Given the description of an element on the screen output the (x, y) to click on. 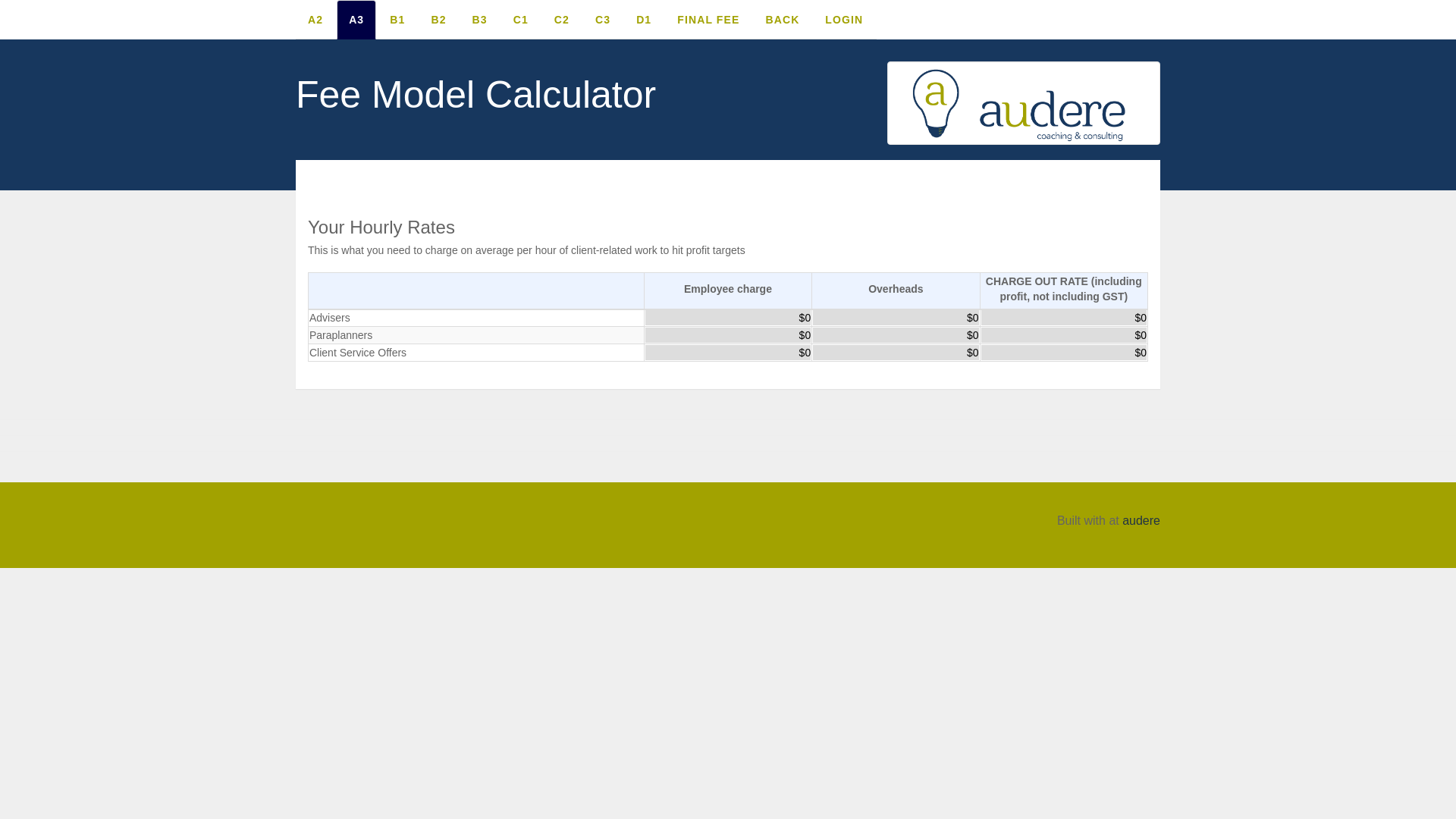
B3 Element type: text (479, 19)
B1 Element type: text (397, 19)
C2 Element type: text (561, 19)
FINAL FEE Element type: text (708, 19)
LOGIN Element type: text (843, 19)
B2 Element type: text (438, 19)
BACK Element type: text (782, 19)
C1 Element type: text (520, 19)
A2 Element type: text (315, 19)
D1 Element type: text (643, 19)
audere Element type: text (1141, 520)
C3 Element type: text (602, 19)
A3 Element type: text (356, 19)
